Given the description of an element on the screen output the (x, y) to click on. 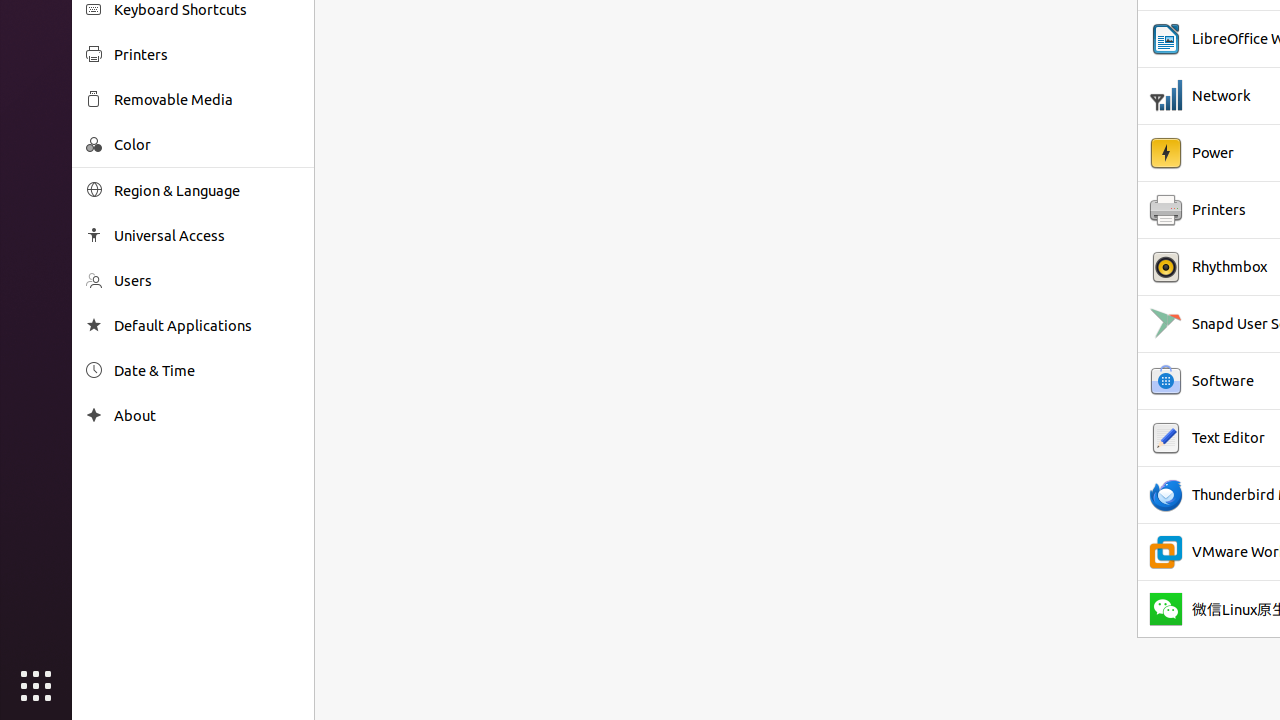
About Element type: icon (94, 415)
Software Element type: label (1223, 381)
Region & Language Element type: label (207, 190)
About Element type: label (207, 415)
Universal Access Element type: label (207, 235)
